Given the description of an element on the screen output the (x, y) to click on. 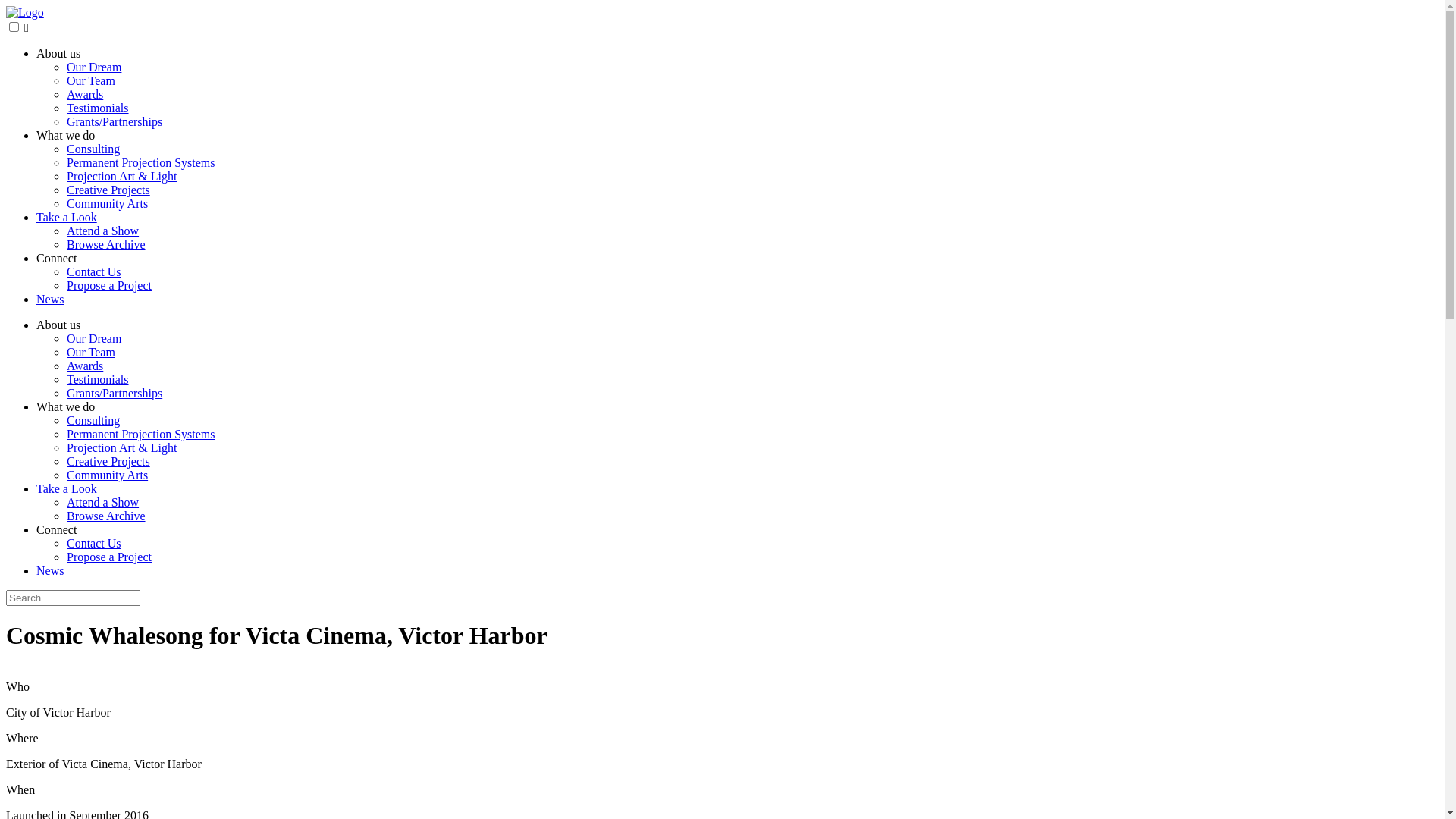
Our Dream Element type: text (93, 66)
Propose a Project Element type: text (108, 285)
Consulting Element type: text (92, 420)
Grants/Partnerships Element type: text (114, 392)
Browse Archive Element type: text (105, 244)
Creative Projects Element type: text (108, 189)
Creative Projects Element type: text (108, 461)
Community Arts Element type: text (106, 474)
Connect Element type: text (56, 257)
News Element type: text (49, 570)
Connect Element type: text (56, 529)
News Element type: text (49, 298)
Awards Element type: text (84, 365)
Attend a Show Element type: text (102, 501)
Testimonials Element type: text (97, 379)
Consulting Element type: text (92, 148)
Contact Us Element type: text (93, 271)
Projection Art & Light Element type: text (121, 175)
Take a Look Element type: text (66, 216)
Take a Look Element type: text (66, 488)
Our Team Element type: text (90, 80)
Community Arts Element type: text (106, 203)
Our Team Element type: text (90, 351)
Grants/Partnerships Element type: text (114, 121)
Awards Element type: text (84, 93)
Permanent Projection Systems Element type: text (140, 162)
Attend a Show Element type: text (102, 230)
Browse Archive Element type: text (105, 515)
Our Dream Element type: text (93, 338)
Testimonials Element type: text (97, 107)
Propose a Project Element type: text (108, 556)
What we do Element type: text (65, 406)
What we do Element type: text (65, 134)
About us Element type: text (58, 324)
Contact Us Element type: text (93, 542)
Projection Art & Light Element type: text (121, 447)
Permanent Projection Systems Element type: text (140, 433)
About us Element type: text (58, 53)
